Given the description of an element on the screen output the (x, y) to click on. 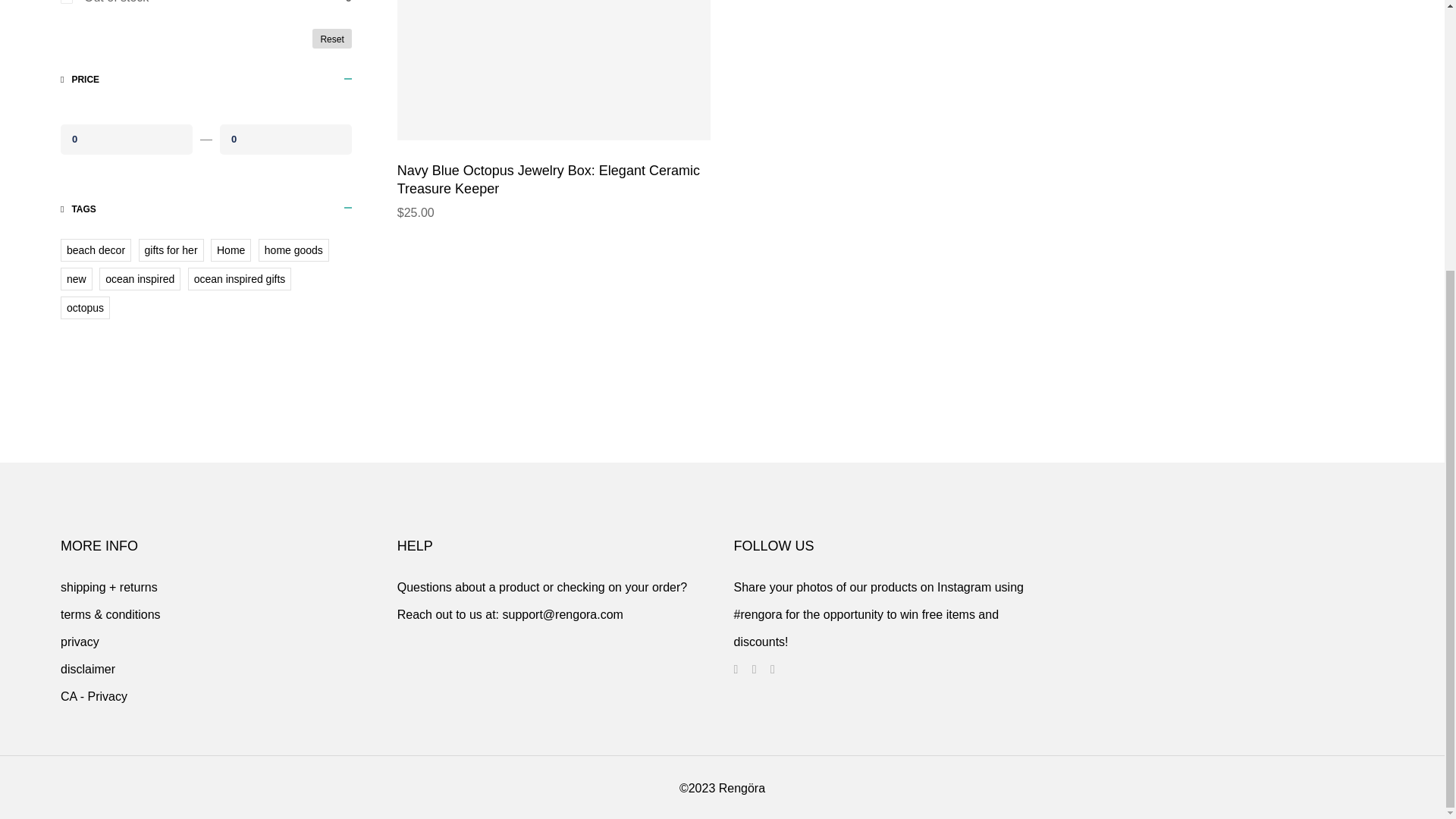
0 (285, 138)
Show products matching tag octopus (85, 307)
Show products matching tag new (77, 278)
Show products matching tag gifts for her (170, 250)
Show products matching tag Home (230, 250)
0 (126, 138)
Show products matching tag beach decor (96, 250)
Show products matching tag home goods (294, 250)
Show products matching tag ocean inspired (139, 278)
Show products matching tag ocean inspired gifts (239, 278)
